Given the description of an element on the screen output the (x, y) to click on. 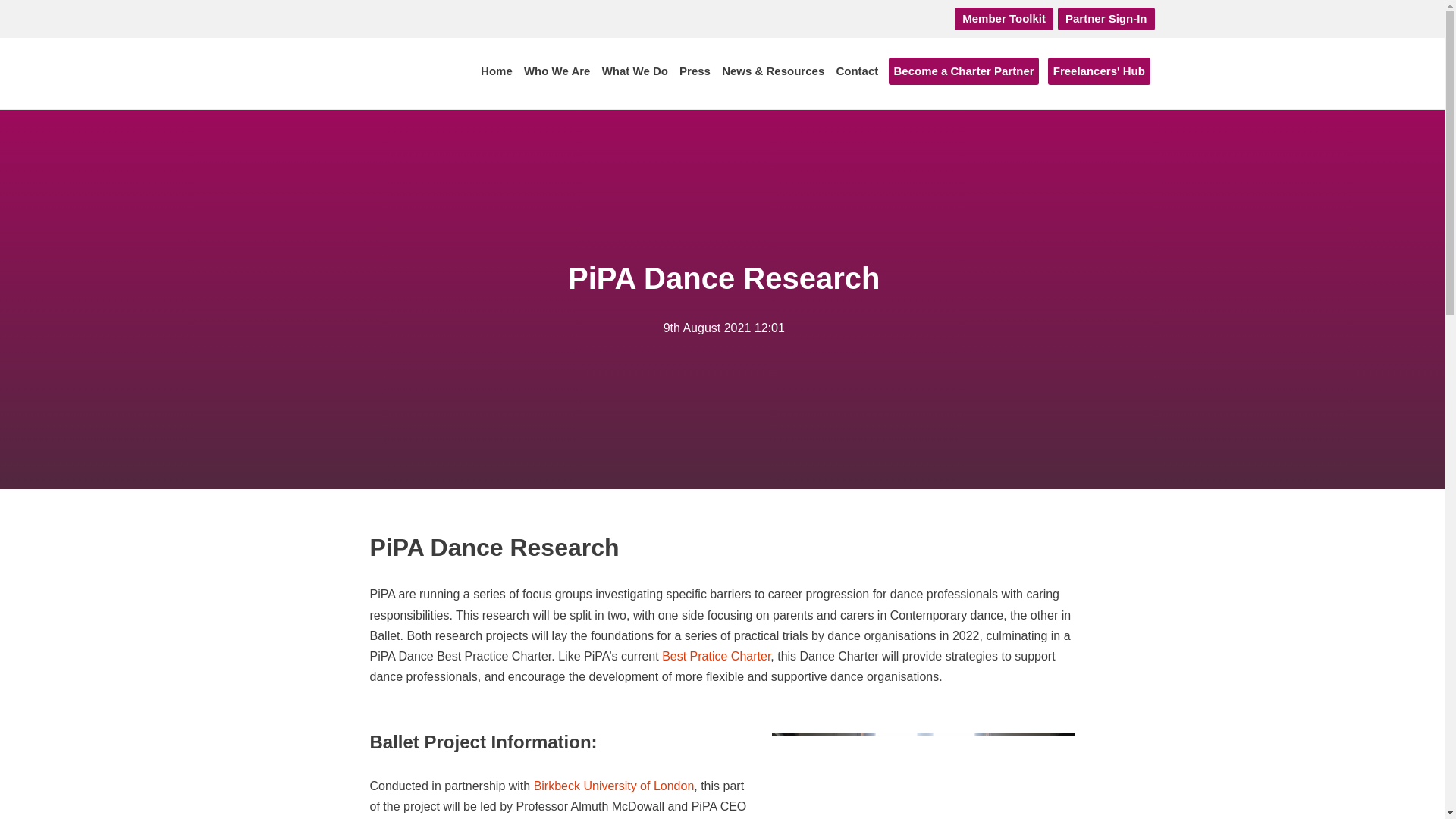
Partner Sign-In (1106, 18)
Follow us on Twitter (934, 18)
Become a Charter Partner (963, 71)
Follow us on Facebook (904, 18)
Twitter (934, 18)
Home (496, 70)
Press (694, 70)
Member Toolkit (1003, 18)
Freelancers' Hub (1099, 71)
Facebook (904, 18)
